Given the description of an element on the screen output the (x, y) to click on. 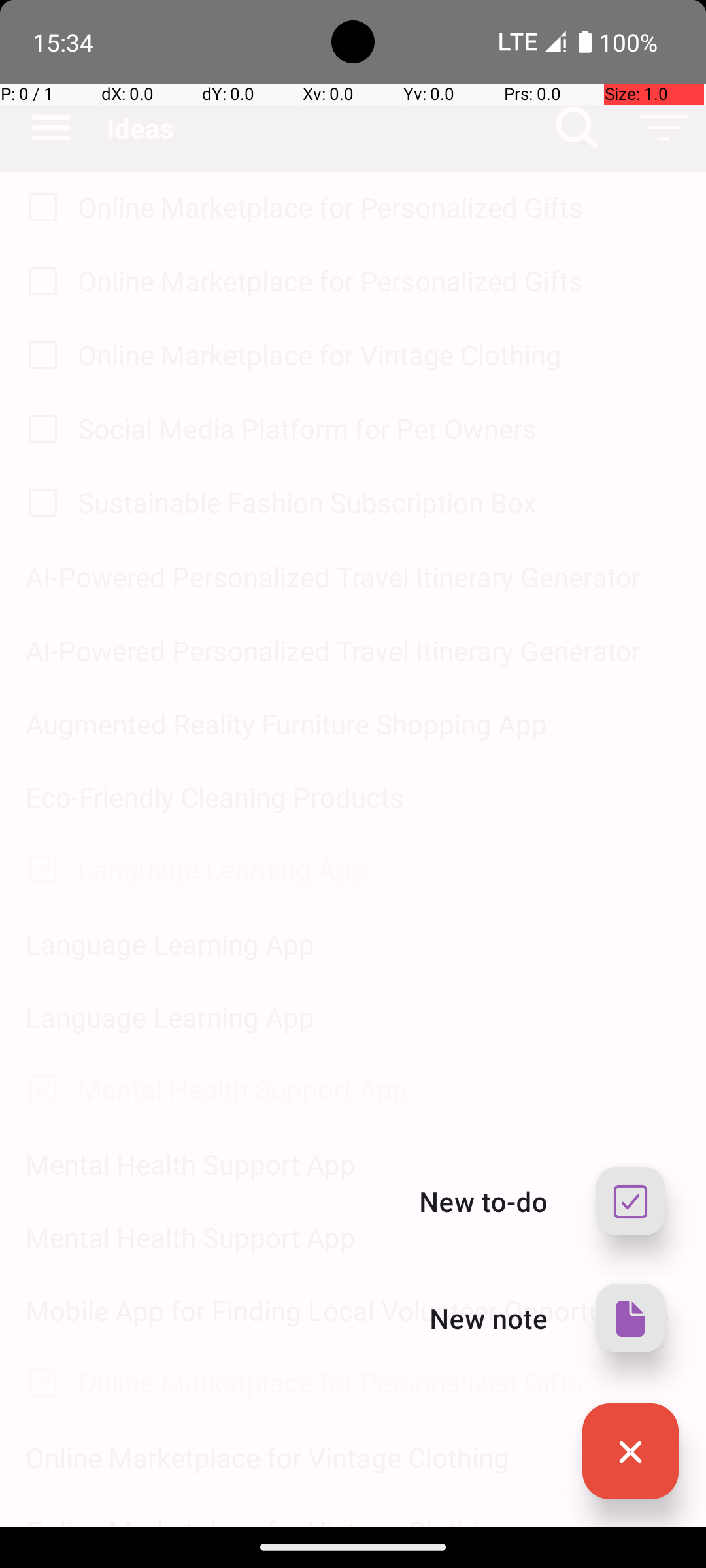
New to-do Element type: android.widget.Button (483, 1201)
New note Element type: android.widget.Button (488, 1317)
Add new, expanded Element type: android.widget.Button (630, 1451)
 Element type: android.widget.TextView (630, 1317)
 Element type: android.widget.TextView (630, 1450)
to-do: Online Marketplace for Personalized Gifts Element type: android.widget.CheckBox (38, 208)
Online Marketplace for Personalized Gifts Element type: android.widget.TextView (378, 206)
to-do: Online Marketplace for Vintage Clothing Element type: android.widget.CheckBox (38, 356)
Online Marketplace for Vintage Clothing Element type: android.widget.TextView (378, 354)
to-do: Social Media Platform for Pet Owners Element type: android.widget.CheckBox (38, 429)
Social Media Platform for Pet Owners Element type: android.widget.TextView (378, 427)
to-do: Sustainable Fashion Subscription Box Element type: android.widget.CheckBox (38, 503)
Sustainable Fashion Subscription Box Element type: android.widget.TextView (378, 501)
AI-Powered Personalized Travel Itinerary Generator Element type: android.widget.TextView (352, 576)
Augmented Reality Furniture Shopping App Element type: android.widget.TextView (352, 723)
to-do: Language Learning App Element type: android.widget.CheckBox (38, 870)
Language Learning App Element type: android.widget.TextView (378, 868)
to-do: Mental Health Support App Element type: android.widget.CheckBox (38, 1090)
Mental Health Support App Element type: android.widget.TextView (378, 1088)
Mobile App for Finding Local Volunteer Opportunities Element type: android.widget.TextView (352, 1309)
